Given the description of an element on the screen output the (x, y) to click on. 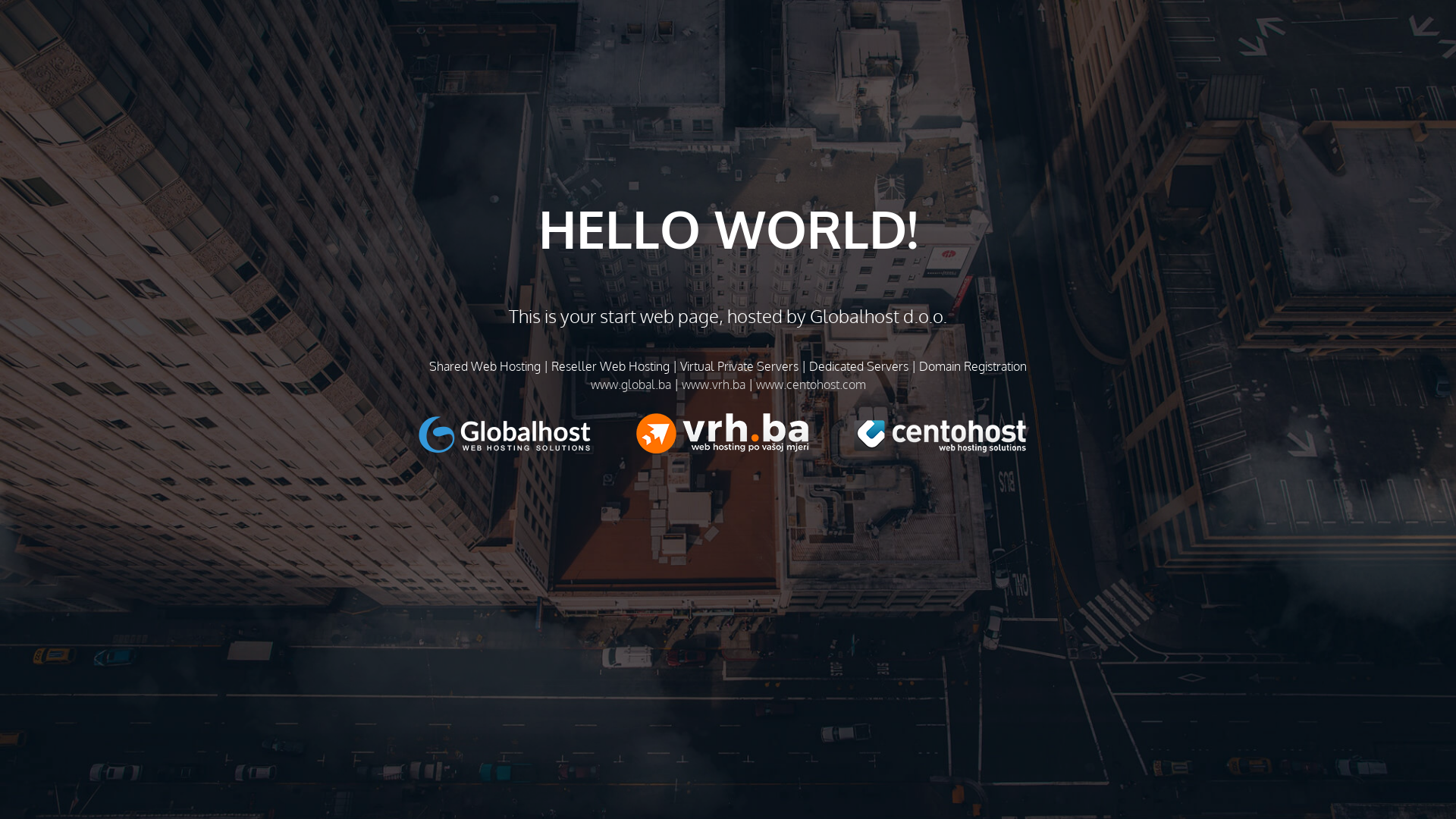
www.global.ba Element type: text (629, 384)
www.centohost.com Element type: text (810, 384)
                Element type: text (744, 433)
www.vrh.ba Element type: text (712, 384)
                Element type: text (527, 433)
